Given the description of an element on the screen output the (x, y) to click on. 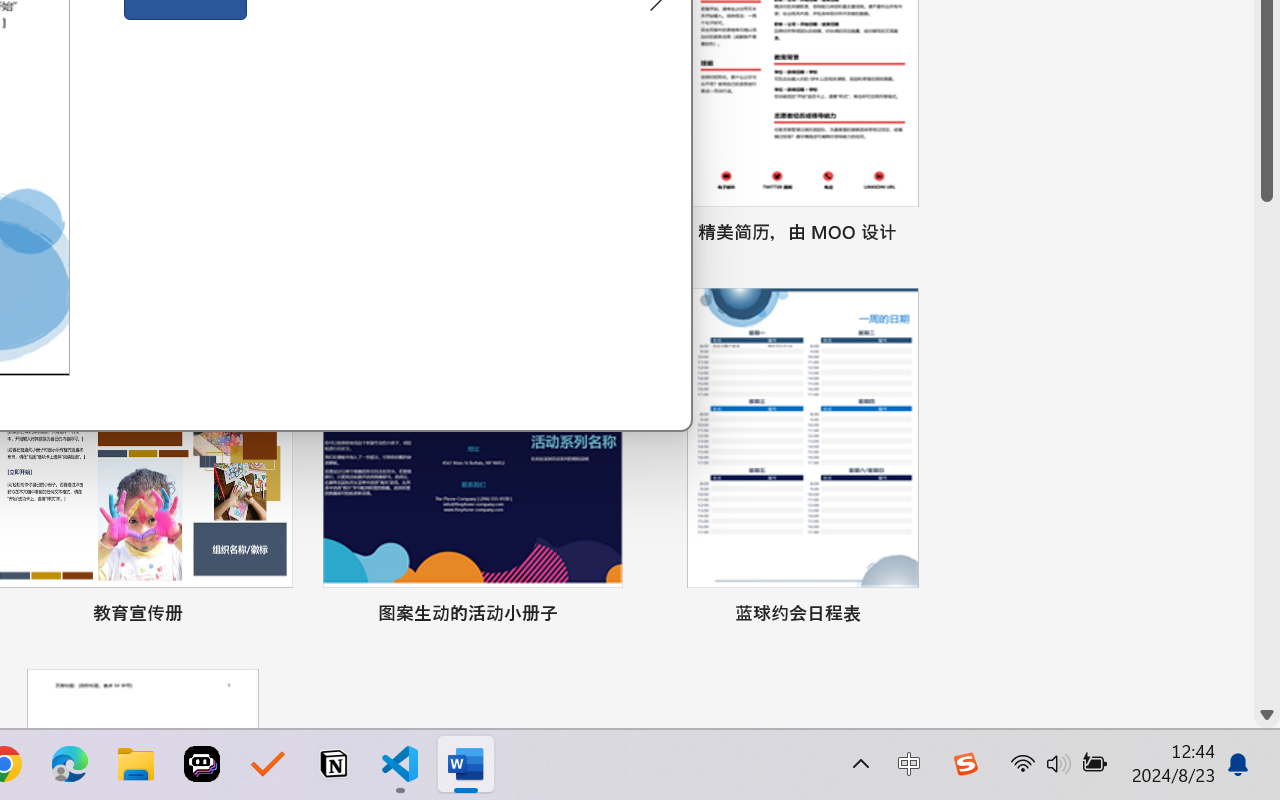
Line down (1267, 715)
Pin to list (934, 616)
Page down (1267, 451)
